Given the description of an element on the screen output the (x, y) to click on. 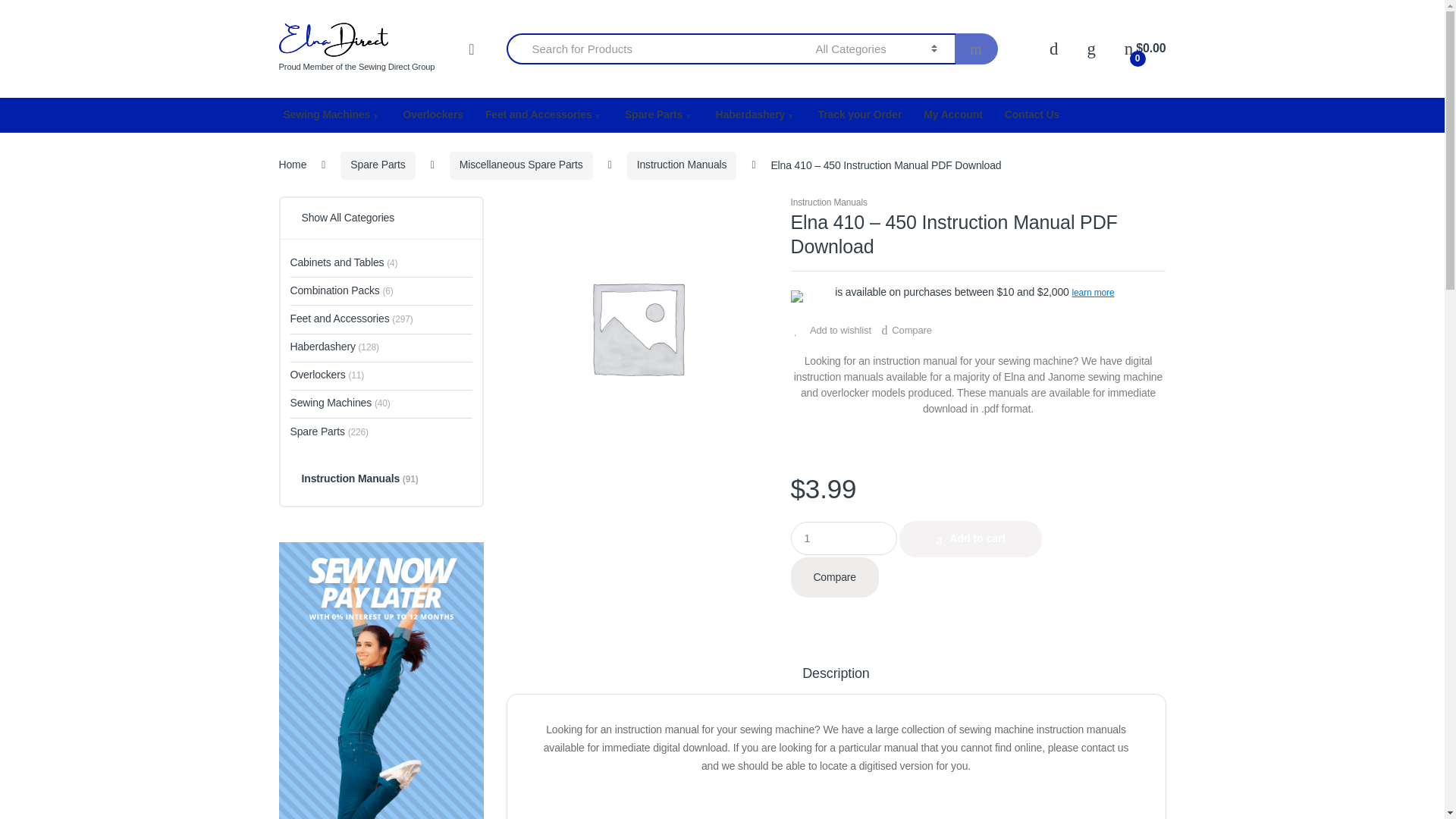
1 (843, 538)
Sewing Machines (332, 114)
